Given the description of an element on the screen output the (x, y) to click on. 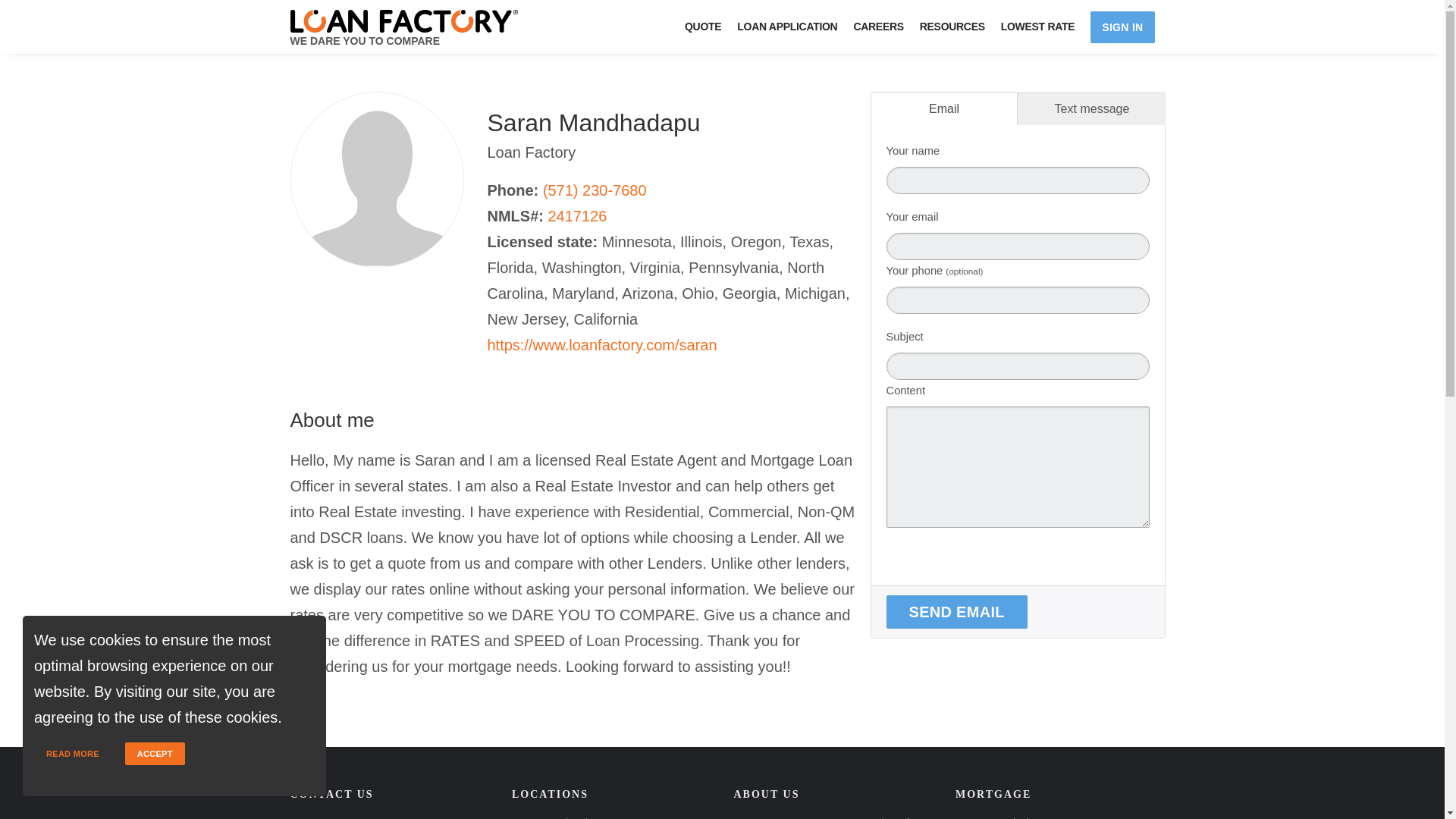
QUOTE (709, 27)
RESOURCES (959, 27)
Text message (1091, 108)
SIGN IN (1122, 27)
2417126 (577, 216)
Email (943, 108)
SEND EMAIL (955, 611)
SIGN IN (1122, 27)
CAREERS (885, 27)
LOWEST RATE (1045, 27)
LOAN APPLICATION (793, 27)
